Given the description of an element on the screen output the (x, y) to click on. 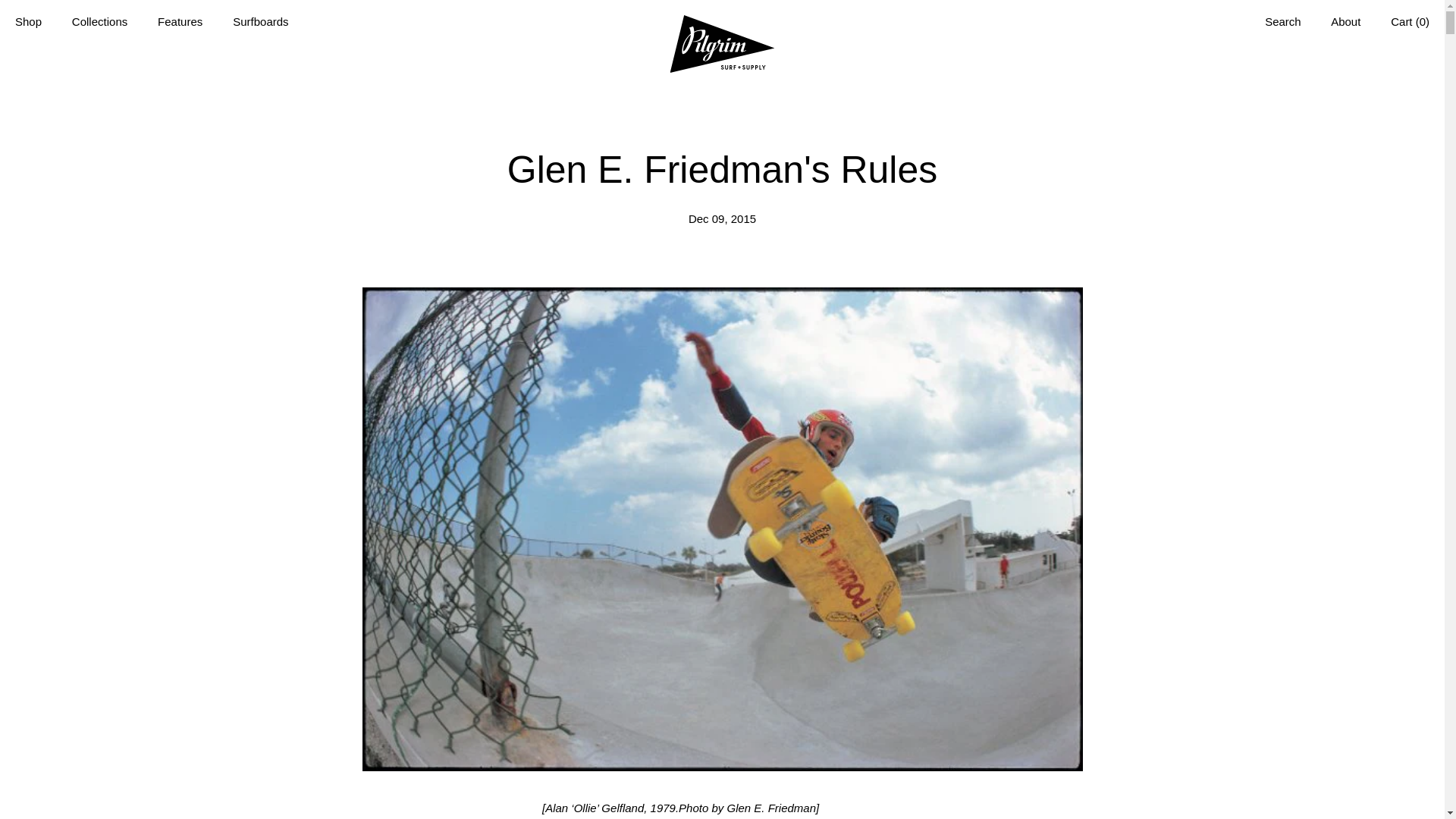
Shop (28, 22)
Search (1282, 22)
Collections (99, 22)
Features (179, 22)
About (1345, 22)
Surfboards (259, 22)
